Given the description of an element on the screen output the (x, y) to click on. 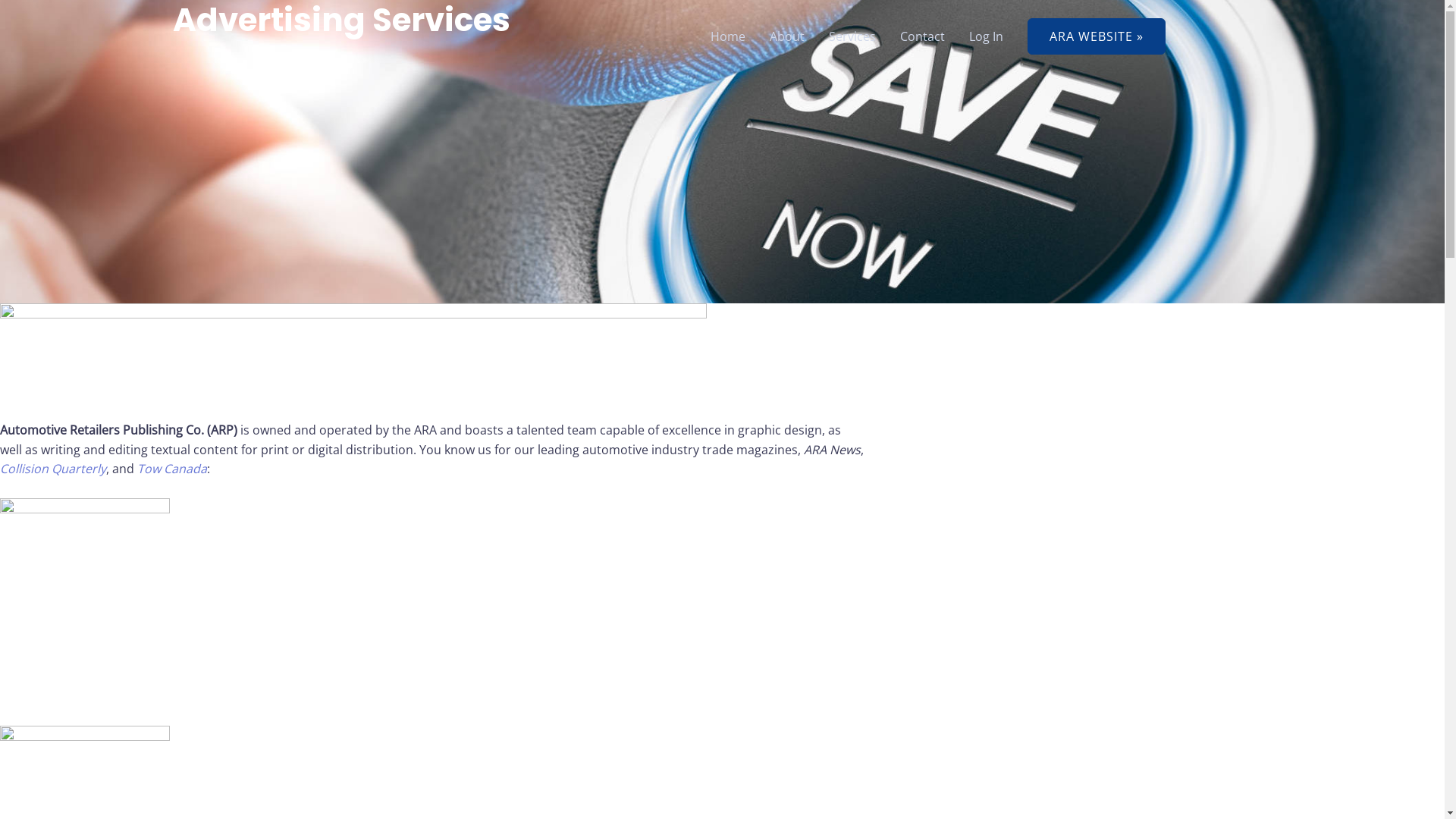
Contact Element type: text (921, 36)
Tow Canada Element type: text (170, 468)
About Element type: text (785, 36)
Collision Quarterly Element type: text (53, 468)
Services Element type: text (851, 36)
Log In Element type: text (986, 36)
Home Element type: text (726, 36)
